Given the description of an element on the screen output the (x, y) to click on. 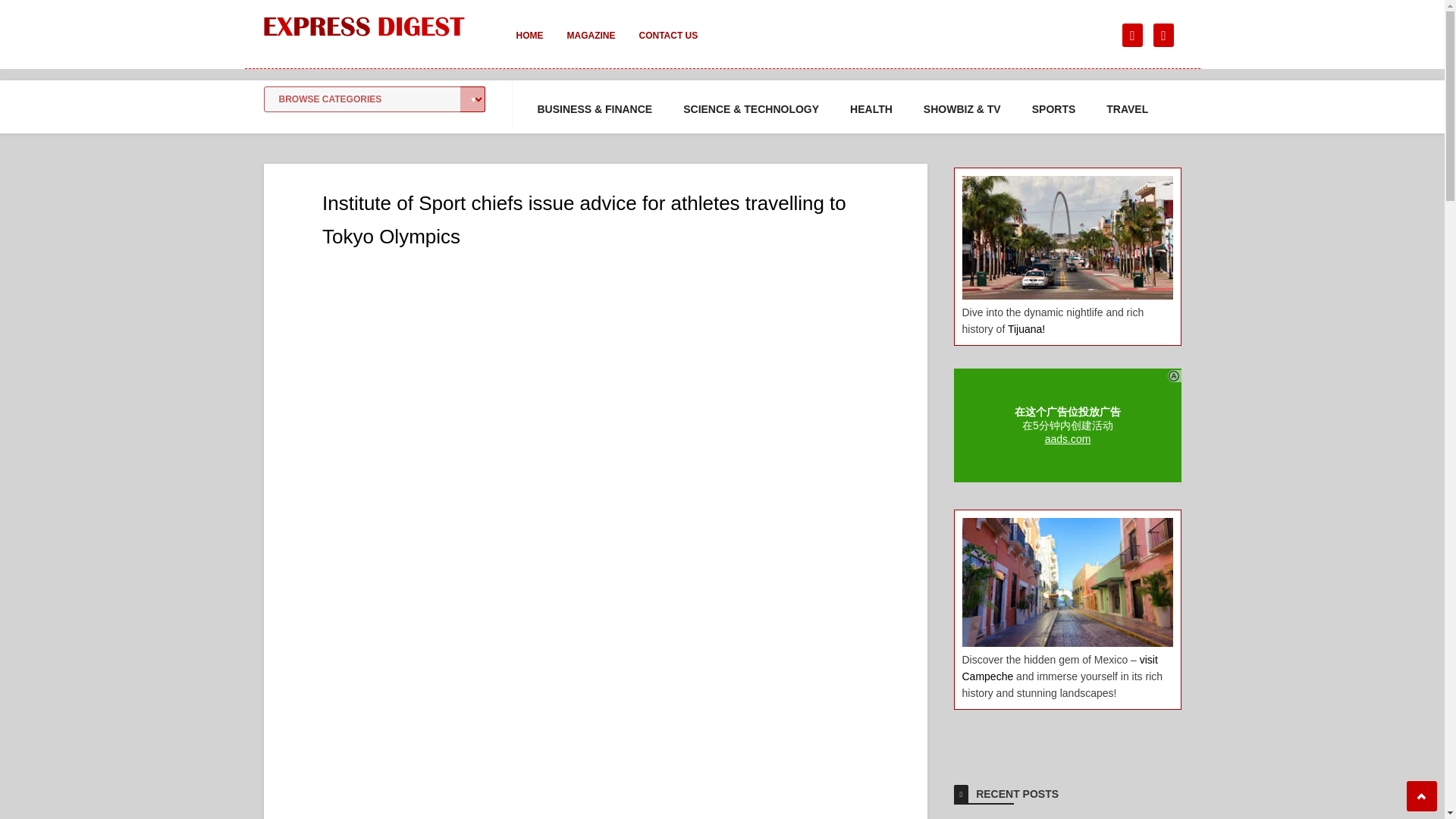
Tijuana! (1026, 328)
MAGAZINE (590, 45)
CONTACT US (667, 45)
SPORTS (1053, 109)
HEALTH (871, 109)
visit Campeche (1058, 667)
TRAVEL (1127, 109)
